Given the description of an element on the screen output the (x, y) to click on. 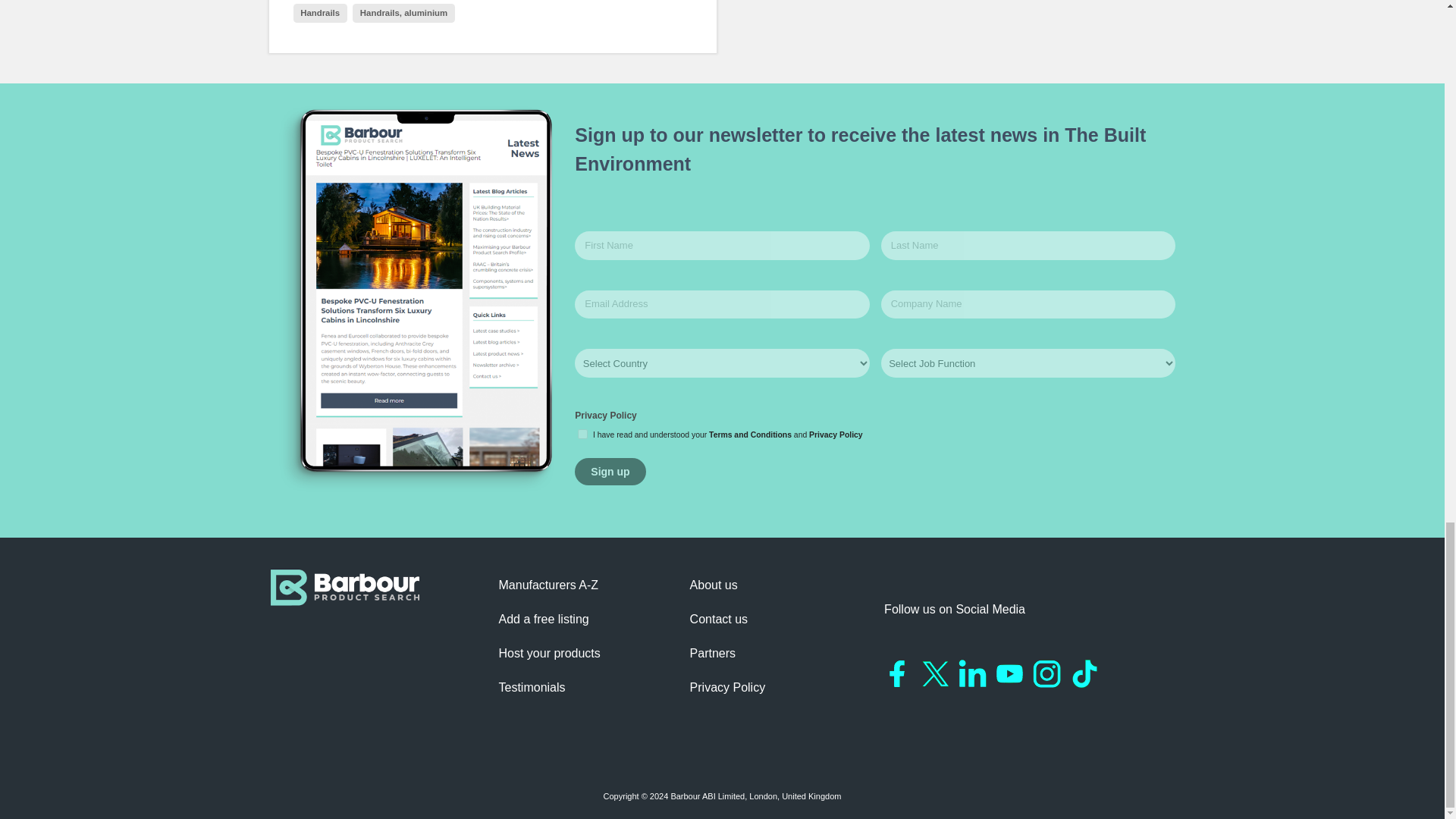
Sign up (610, 471)
